Given the description of an element on the screen output the (x, y) to click on. 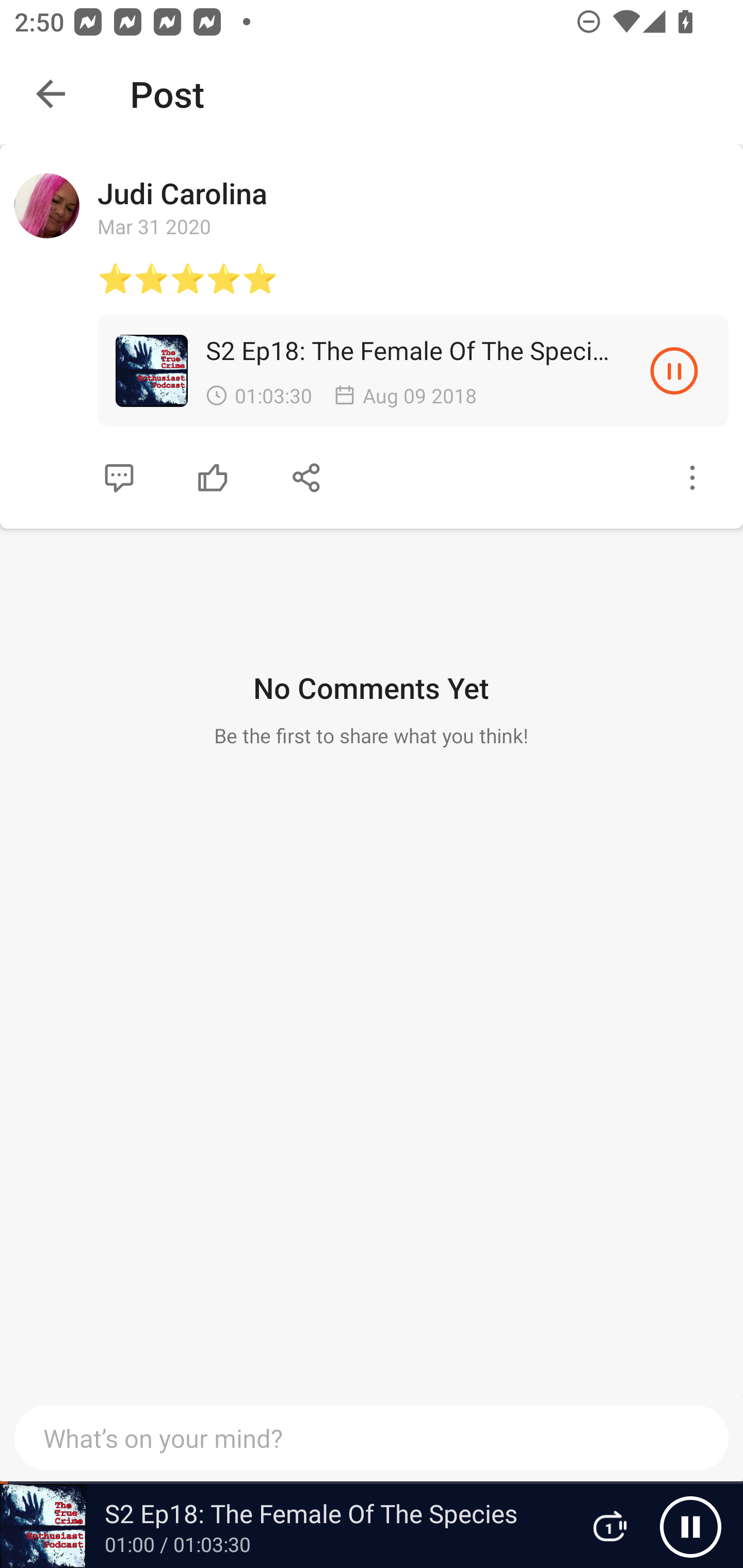
Navigate up (50, 93)
 (673, 370)
 (119, 478)
 (212, 478)
 (307, 478)
 (692, 478)
What’s on your mind? (371, 1437)
Pause (690, 1526)
